Given the description of an element on the screen output the (x, y) to click on. 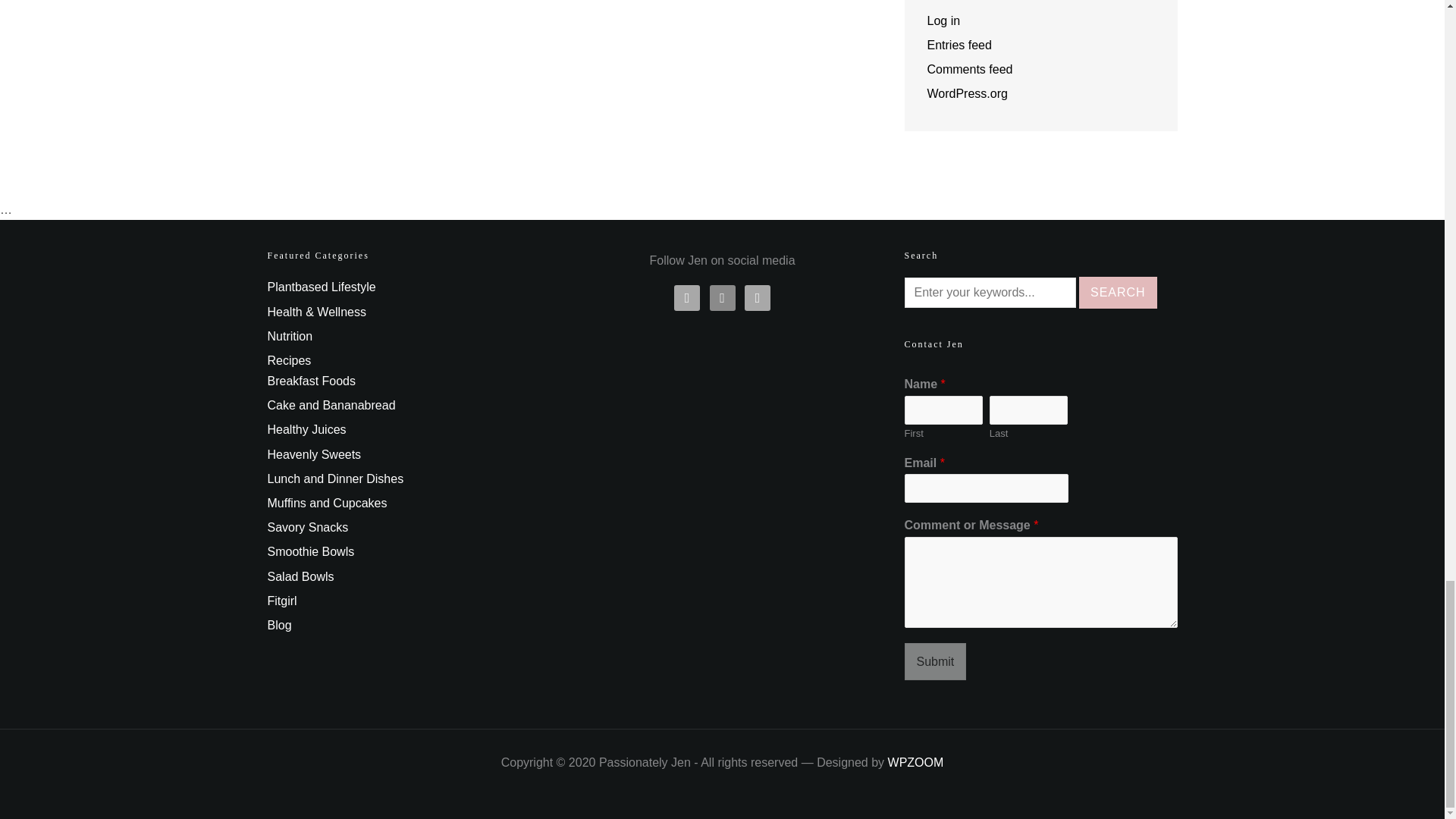
Search (1117, 292)
Facebook (687, 296)
Instagram (722, 296)
Default Label (757, 296)
Search (1117, 292)
